Given the description of an element on the screen output the (x, y) to click on. 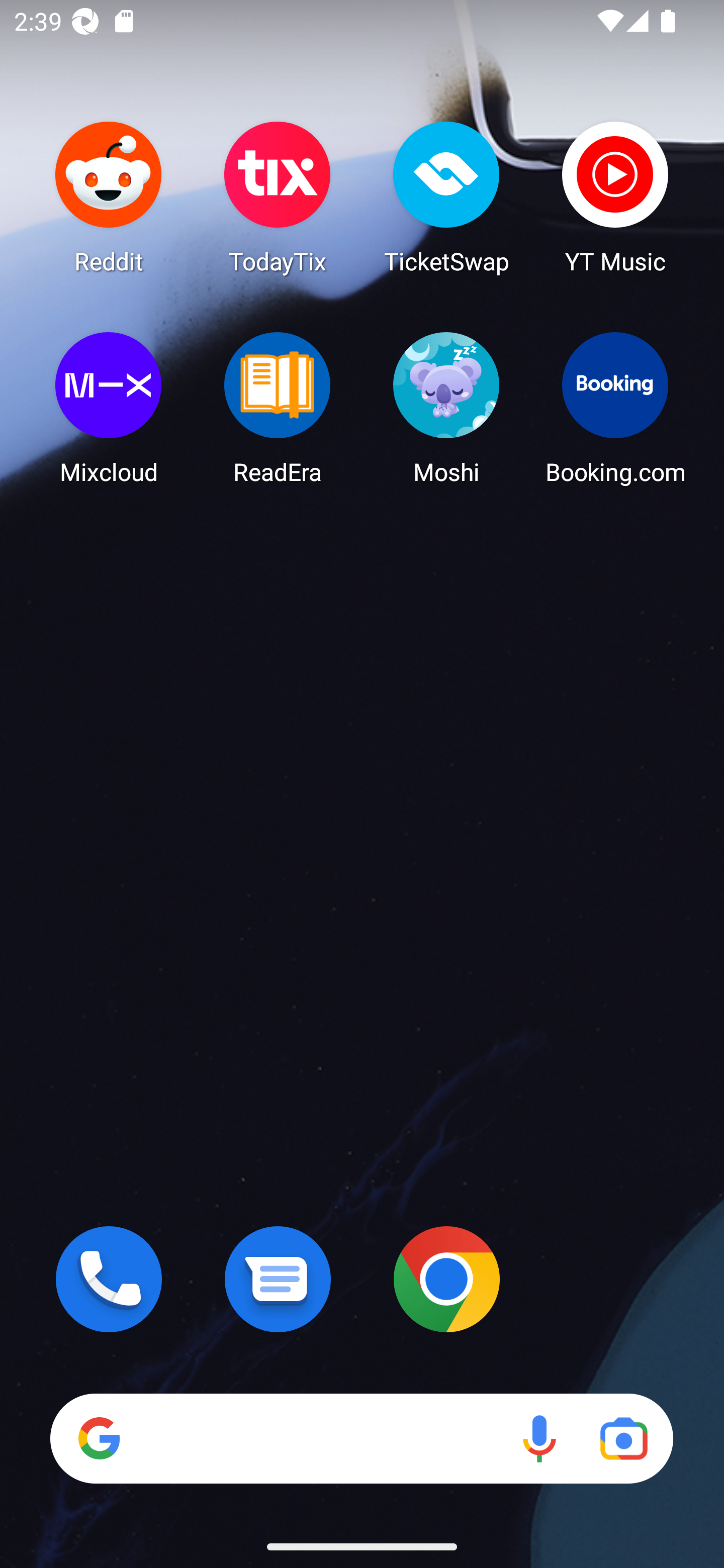
Reddit (108, 196)
TodayTix (277, 196)
TicketSwap (445, 196)
YT Music (615, 196)
Mixcloud (108, 407)
ReadEra (277, 407)
Moshi (445, 407)
Booking.com (615, 407)
Phone (108, 1279)
Messages (277, 1279)
Chrome (446, 1279)
Search Voice search Google Lens (361, 1438)
Voice search (539, 1438)
Google Lens (623, 1438)
